Given the description of an element on the screen output the (x, y) to click on. 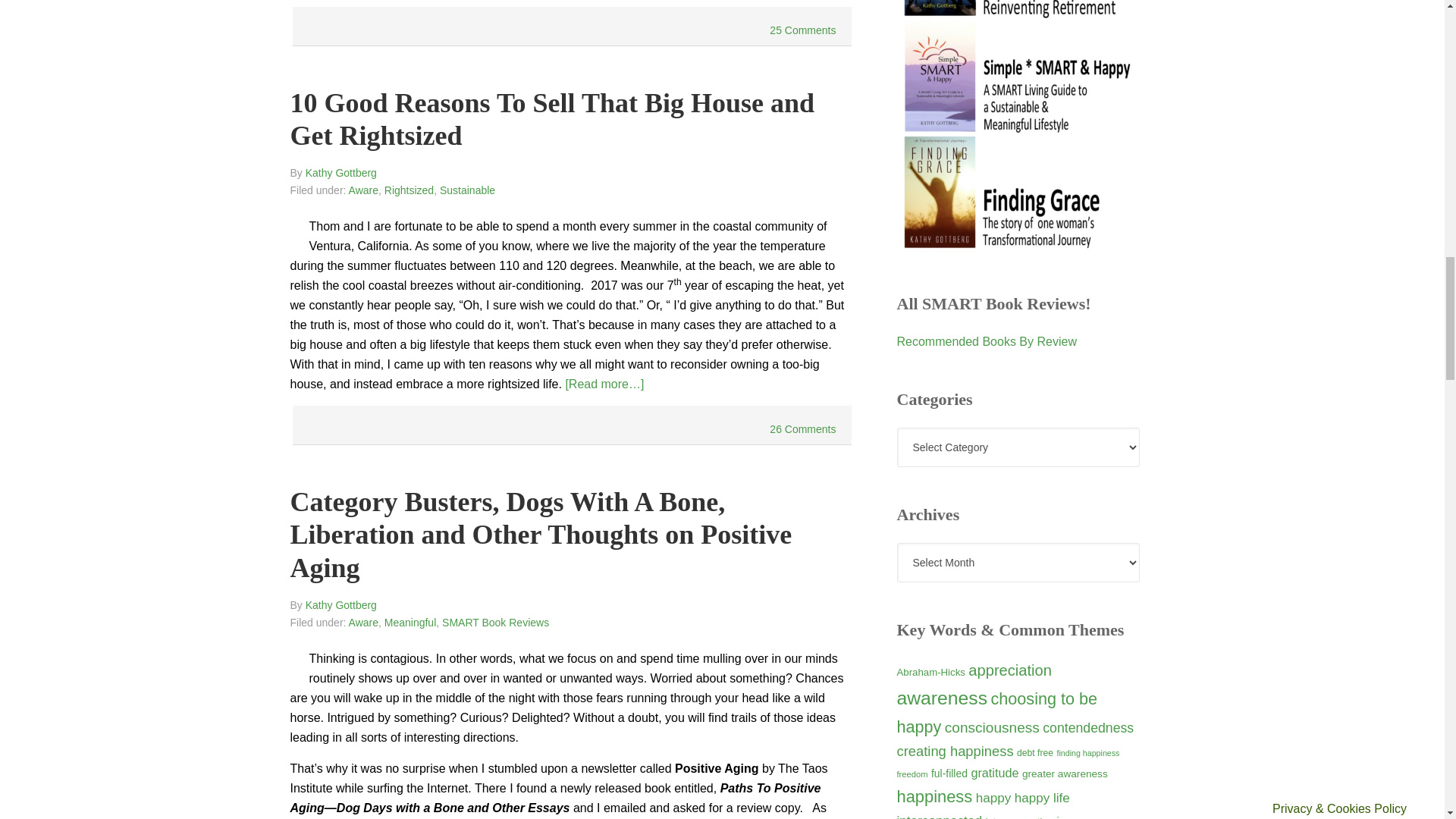
Rightsized (408, 190)
Kathy Gottberg (341, 604)
25 Comments (802, 30)
Sustainable (467, 190)
Meaningful (410, 621)
Aware (363, 190)
Kathy Gottberg (341, 173)
SMART Books 2020 (1017, 245)
10 Good Reasons To Sell That Big House and Get Rightsized (551, 118)
26 Comments (802, 428)
Aware (363, 621)
